Given the description of an element on the screen output the (x, y) to click on. 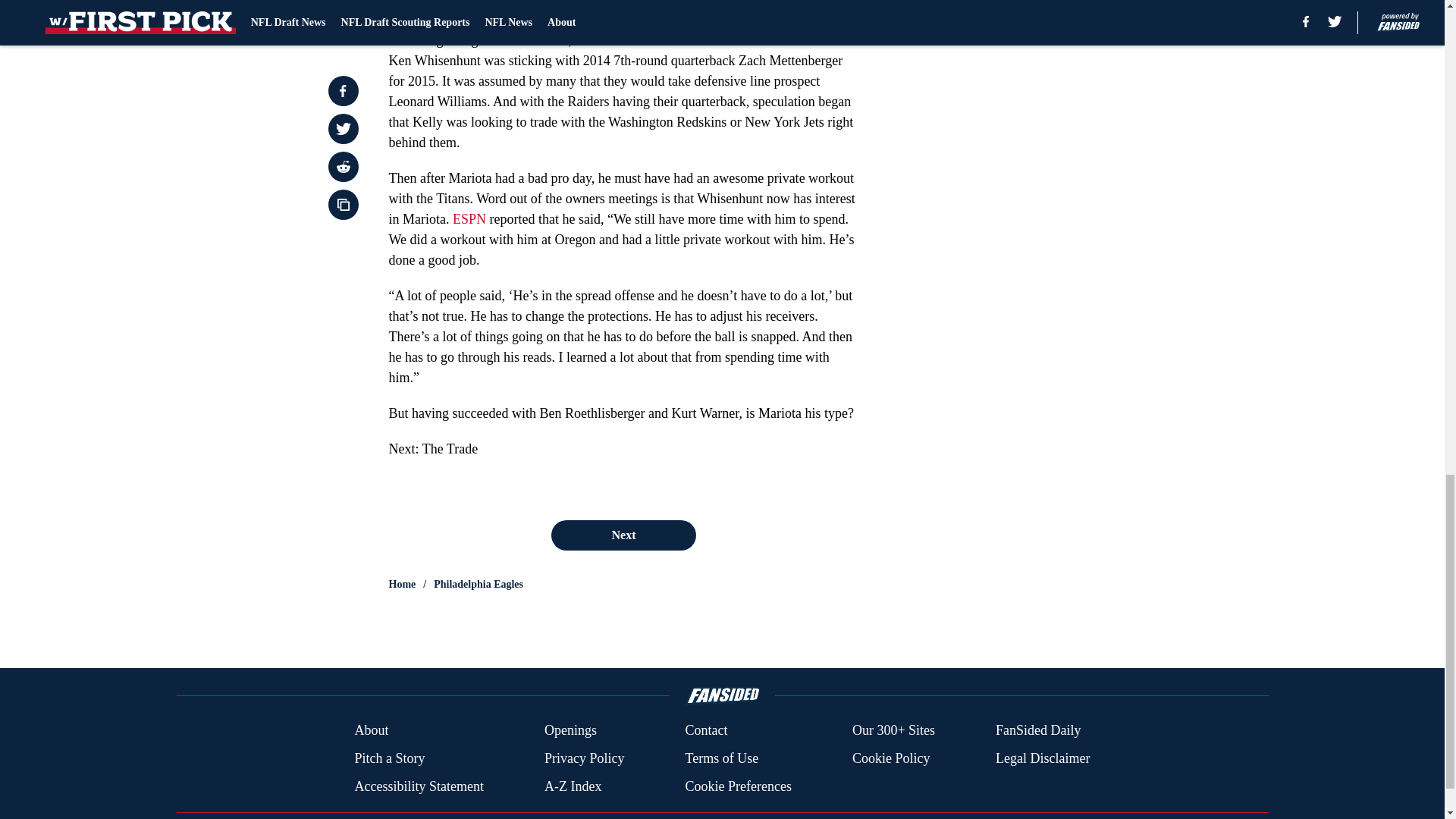
ESPN (469, 218)
About (370, 730)
Cookie Preferences (737, 786)
Privacy Policy (584, 758)
Accessibility Statement (418, 786)
Philadelphia Eagles (477, 584)
Pitch a Story (389, 758)
Next (622, 535)
Home (401, 584)
Cookie Policy (890, 758)
